Given the description of an element on the screen output the (x, y) to click on. 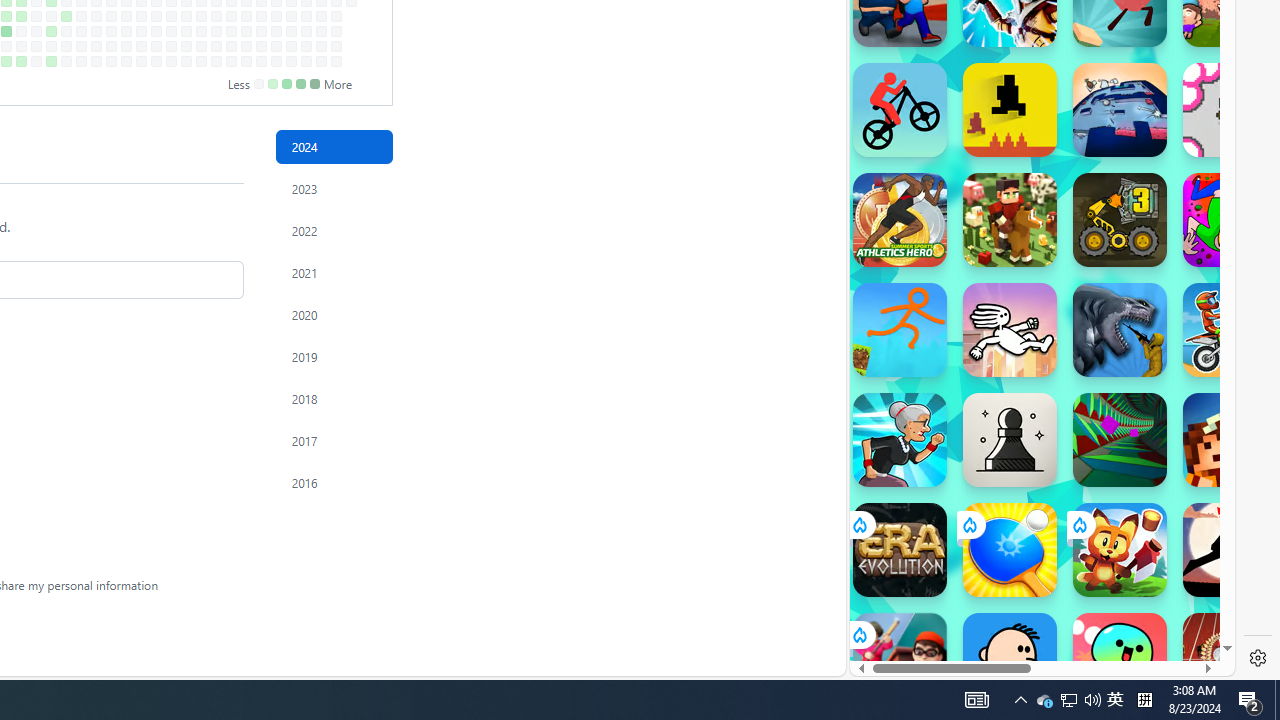
Big Tower Tiny Square Big Tower Tiny Square (1119, 109)
No contributions on October 26th. (201, 61)
No contributions on September 7th. (96, 61)
BoxRob 3 BoxRob 3 (1119, 219)
No contributions on November 23rd. (261, 61)
Big Tower Tiny Square (1119, 109)
Era: Evolution Era: Evolution (899, 549)
No contributions on September 4th. (96, 16)
No contributions on October 23rd. (201, 16)
No contributions on October 11th. (171, 46)
6 contributions on July 25th. (6, 30)
No contributions on November 13th. (246, 16)
No contributions on October 17th. (186, 30)
Hills of Steel (925, 290)
